Given the description of an element on the screen output the (x, y) to click on. 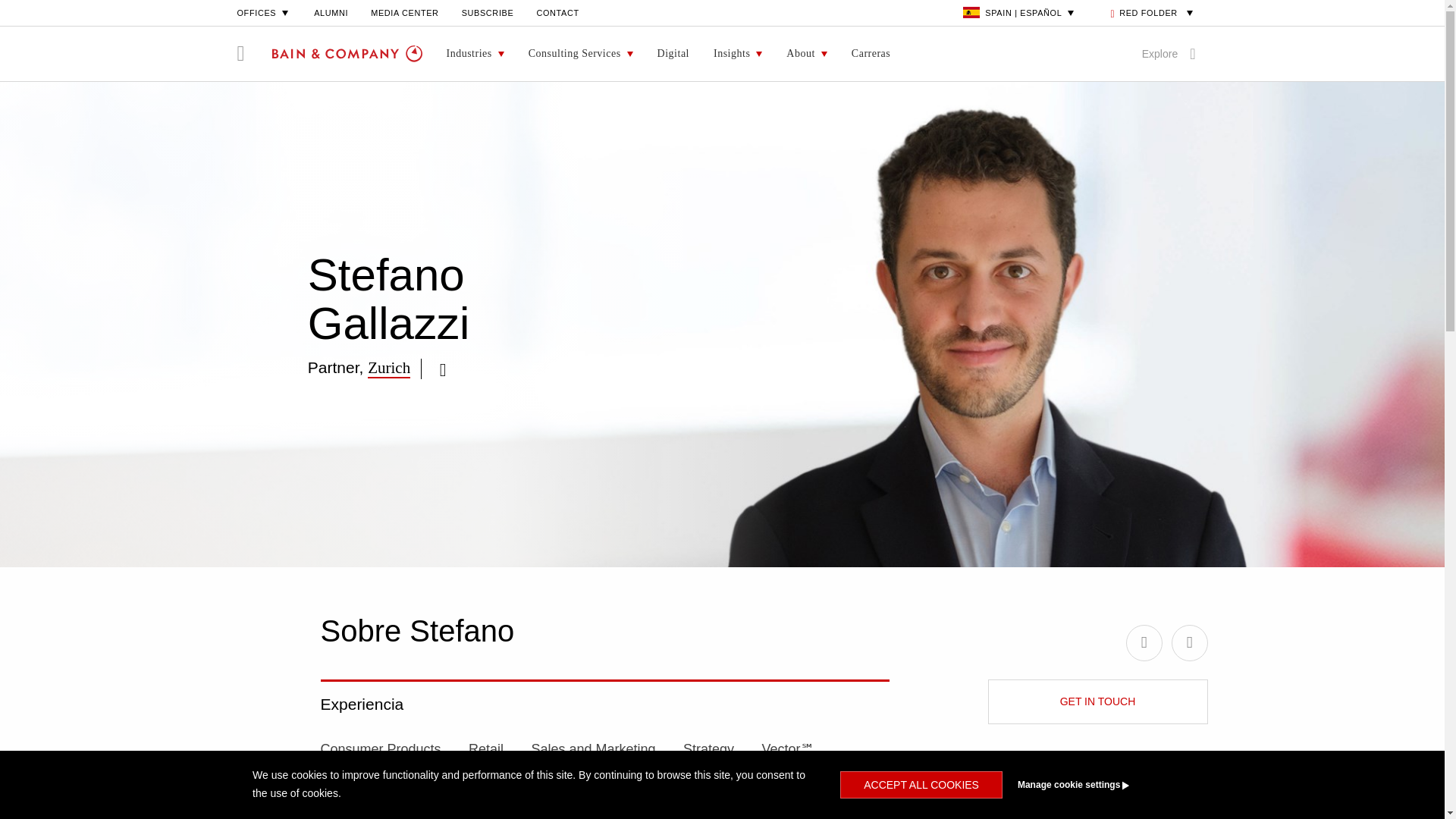
Manage cookie settings (1101, 784)
ACCEPT ALL COOKIES (921, 784)
OFFICES (263, 12)
